Given the description of an element on the screen output the (x, y) to click on. 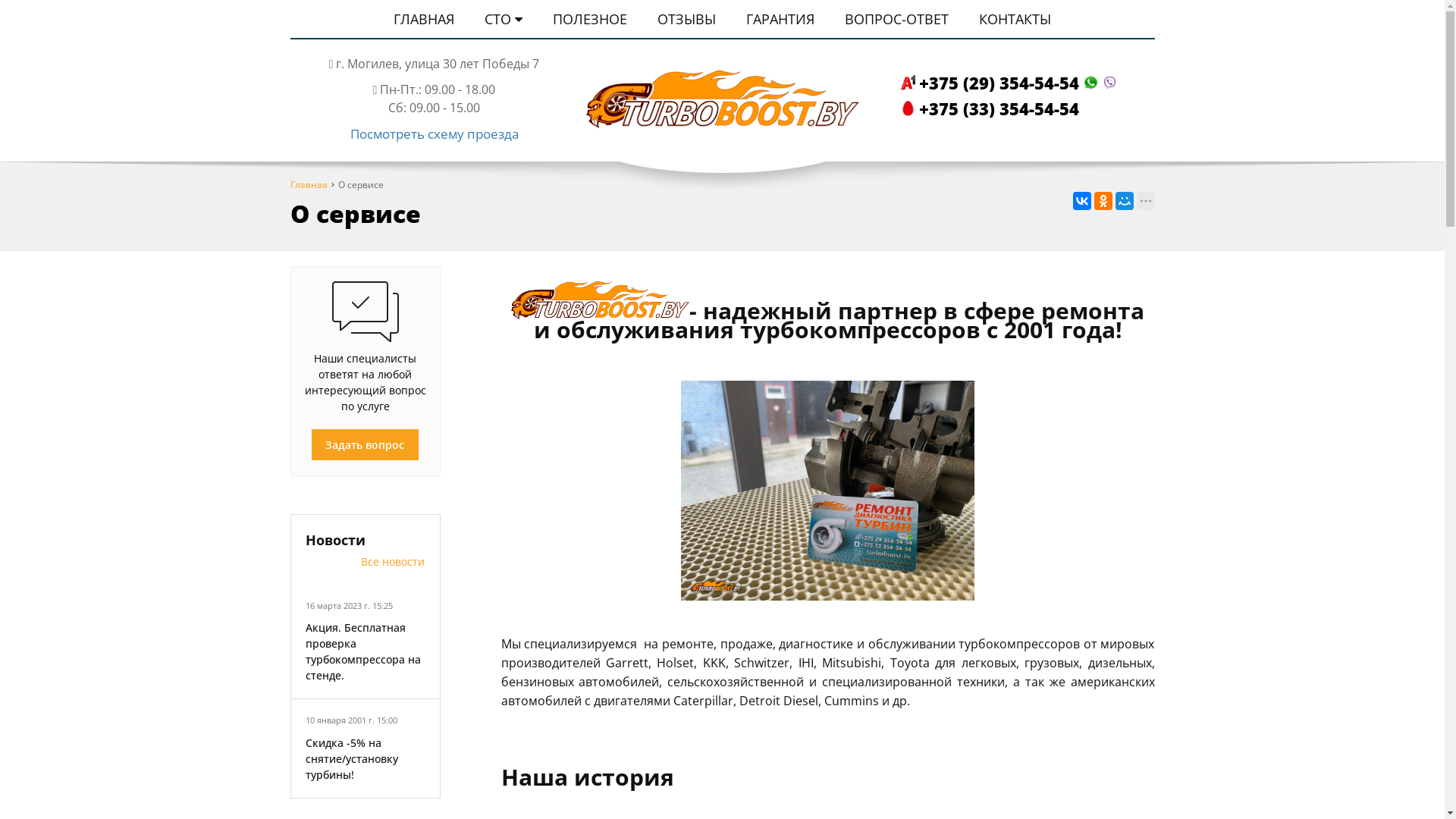
+375 (33) 354-54-54 Element type: text (991, 108)
+375 (29) 354-54-54 Element type: text (1010, 82)
